Given the description of an element on the screen output the (x, y) to click on. 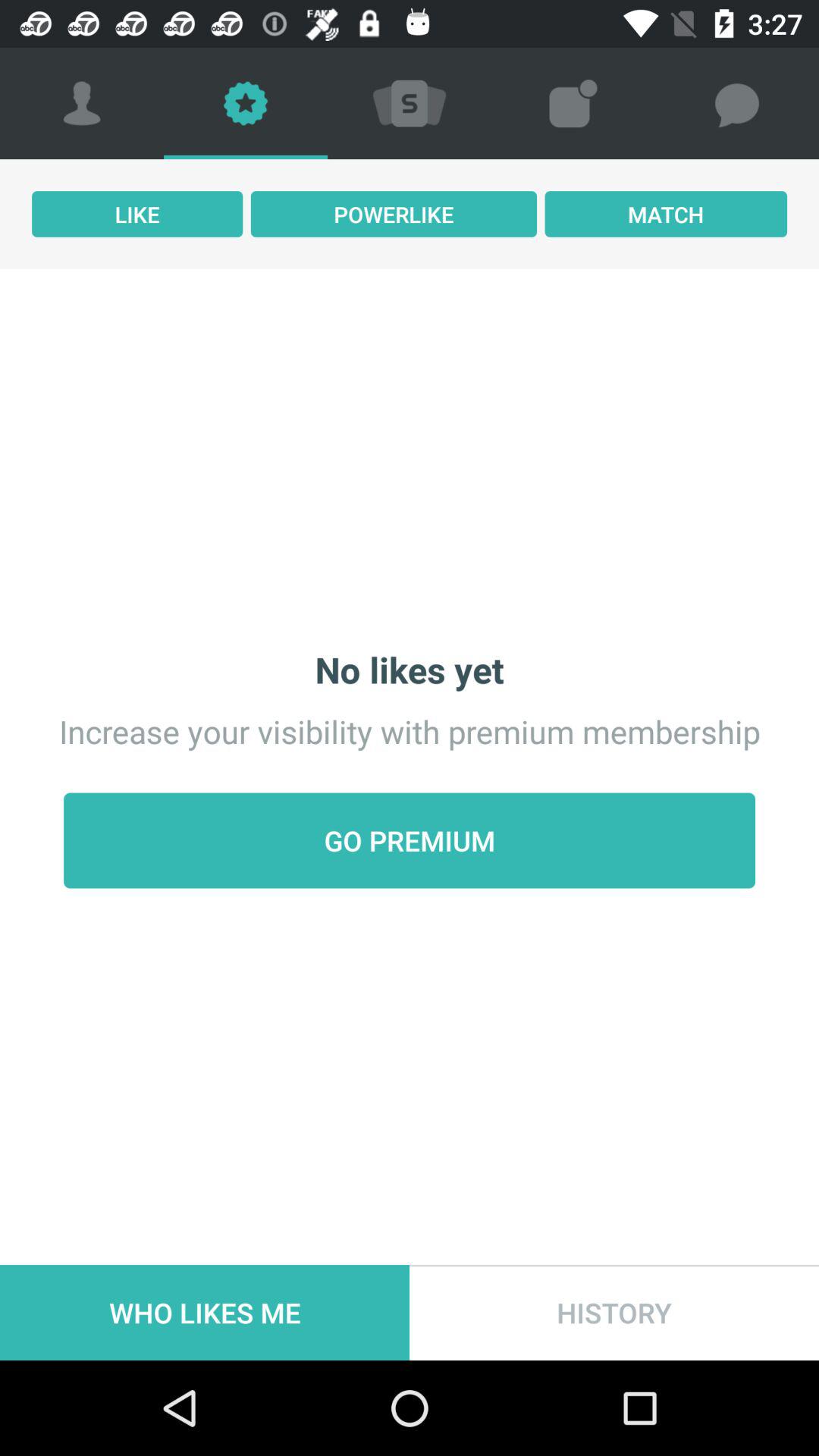
jump until history item (614, 1312)
